Given the description of an element on the screen output the (x, y) to click on. 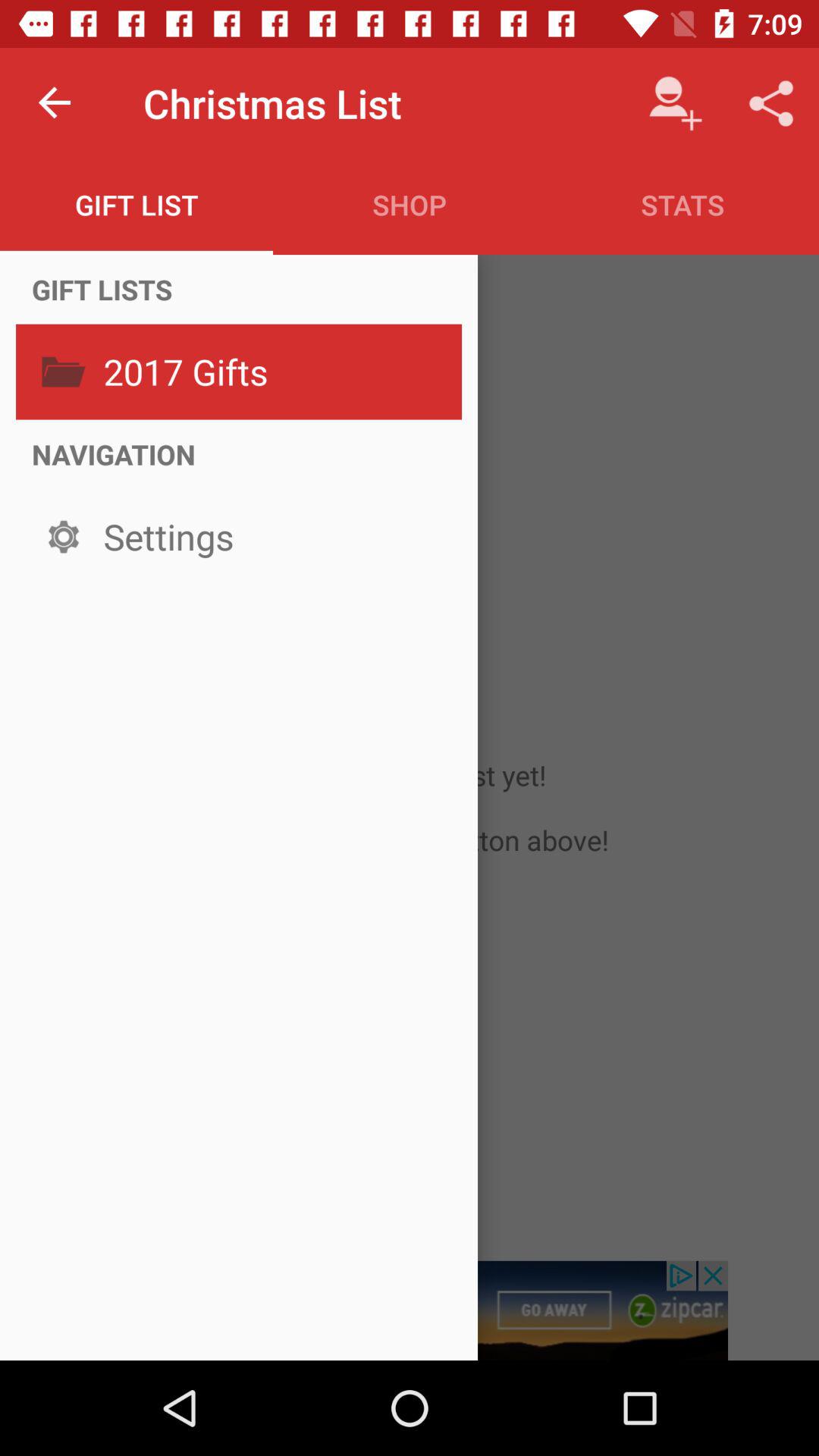
click gift list (136, 204)
